Given the description of an element on the screen output the (x, y) to click on. 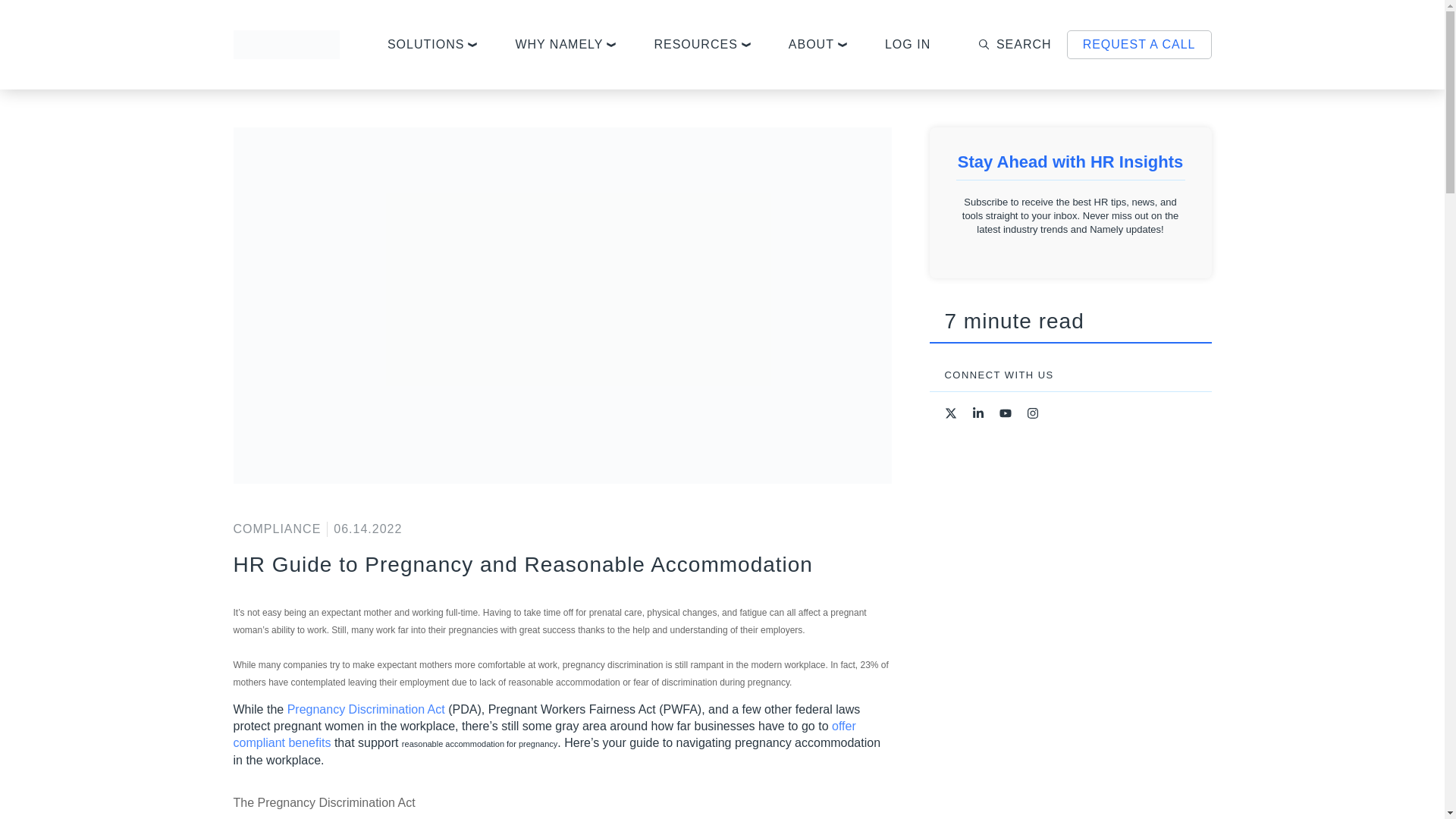
LOG IN (907, 45)
